Given the description of an element on the screen output the (x, y) to click on. 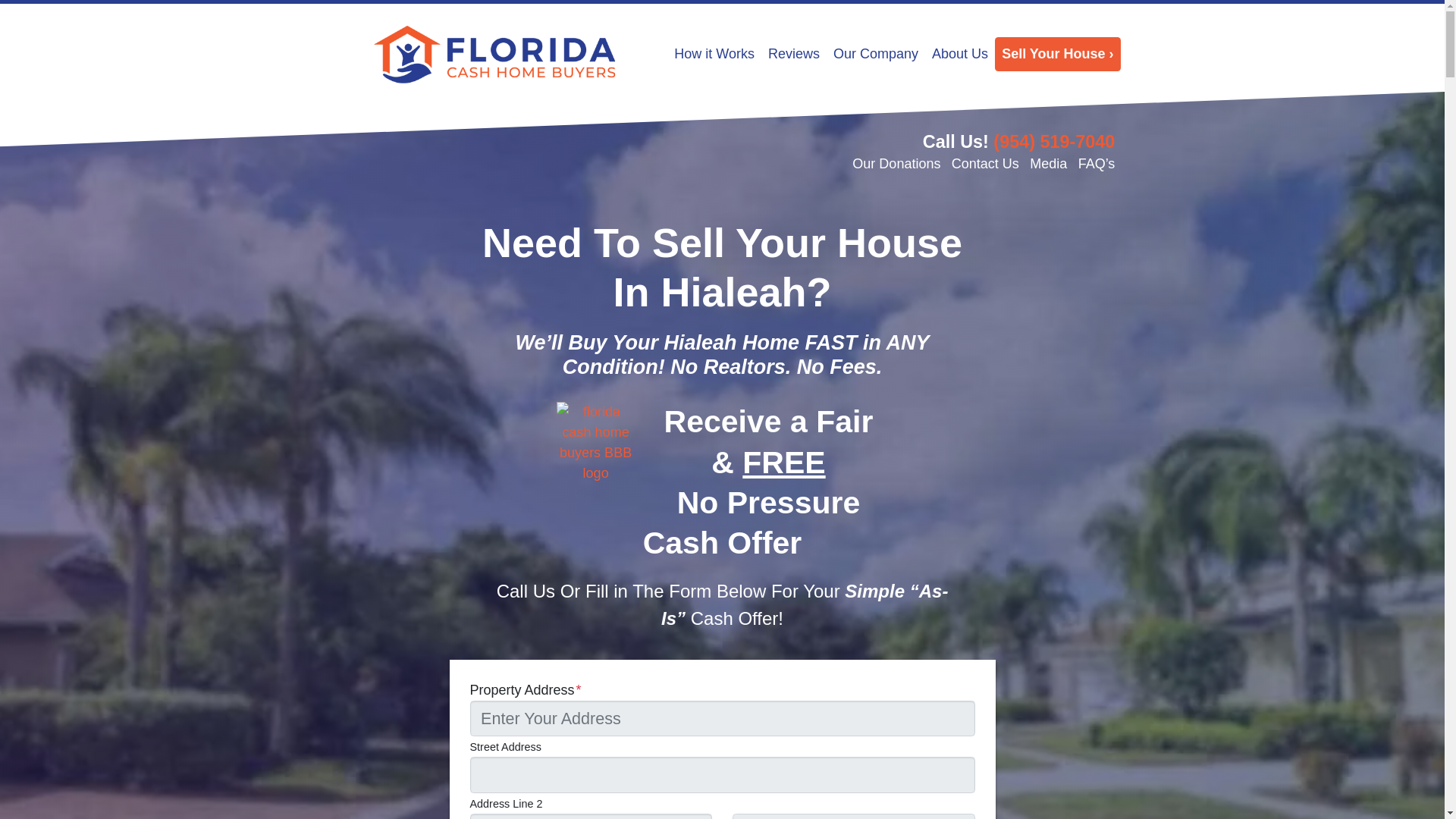
Reviews (794, 53)
How it Works (713, 53)
Our Company (875, 53)
About Us (959, 53)
How it Works (713, 53)
Media (1048, 163)
Contact Us (985, 163)
Reviews (794, 53)
Our Donations (895, 163)
Our Company (875, 53)
About Us (959, 53)
